Given the description of an element on the screen output the (x, y) to click on. 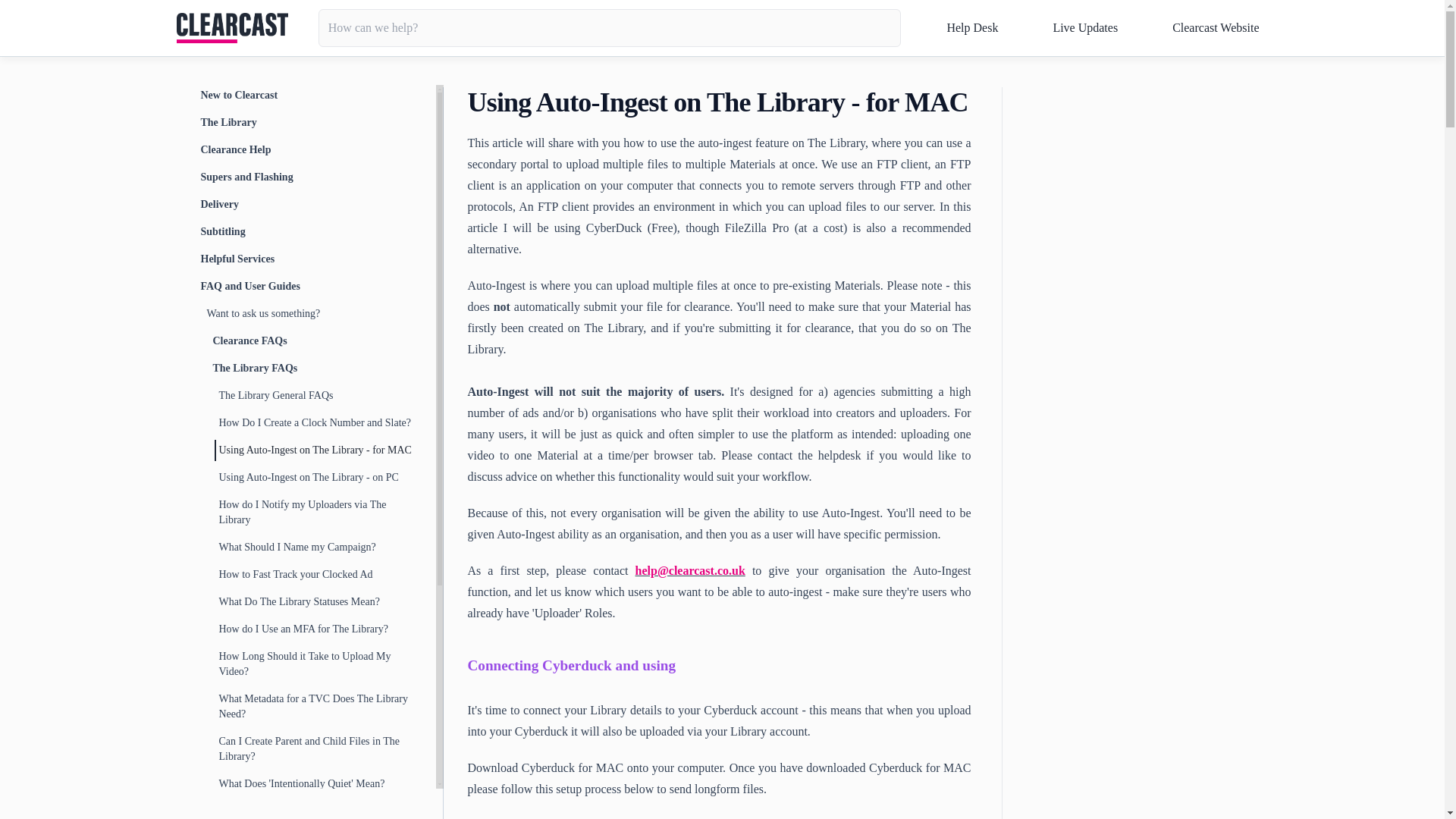
Clearcast Website (1212, 27)
Live Updates (1081, 27)
Help Desk (969, 27)
